Given the description of an element on the screen output the (x, y) to click on. 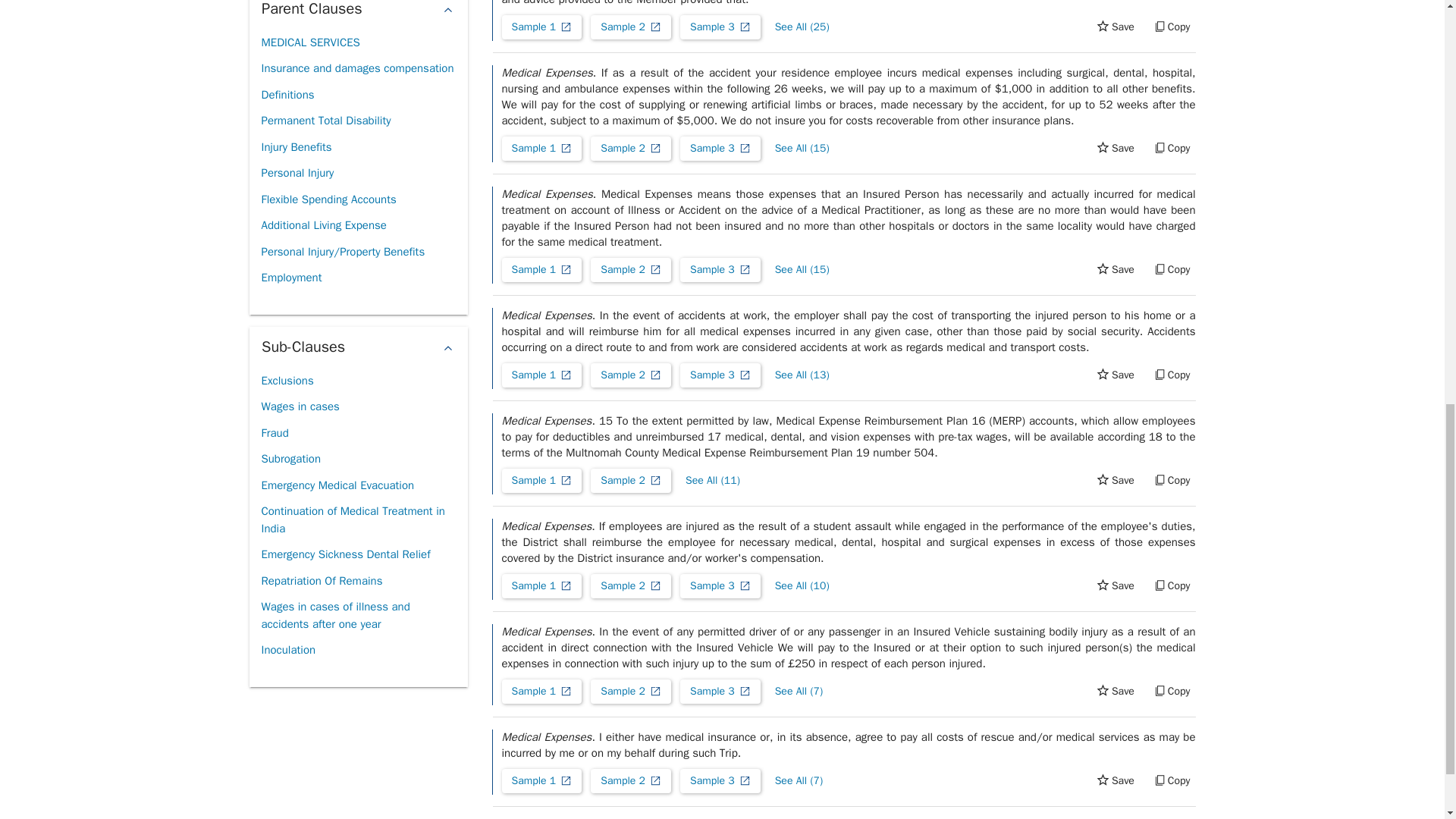
Additional Living Expense (322, 225)
MEDICAL SERVICES (309, 42)
Permanent Total Disability (325, 120)
Flexible Spending Accounts (328, 199)
Injury Benefits (295, 147)
Definitions (287, 94)
Insurance and damages compensation (356, 68)
Personal Injury (296, 172)
